Given the description of an element on the screen output the (x, y) to click on. 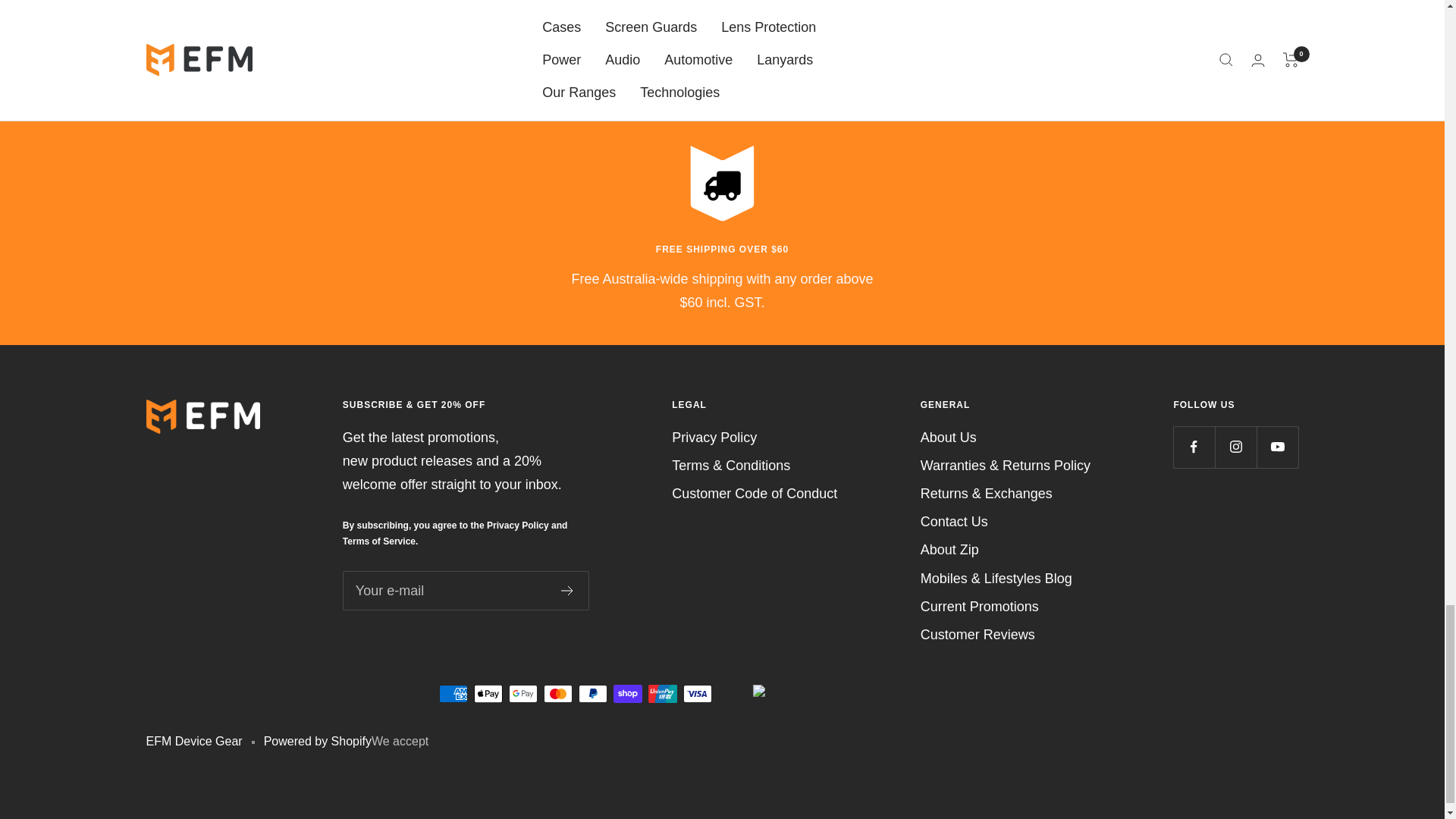
Terms of Service (380, 541)
Privacy Policy (517, 525)
Subscribe (566, 590)
